Given the description of an element on the screen output the (x, y) to click on. 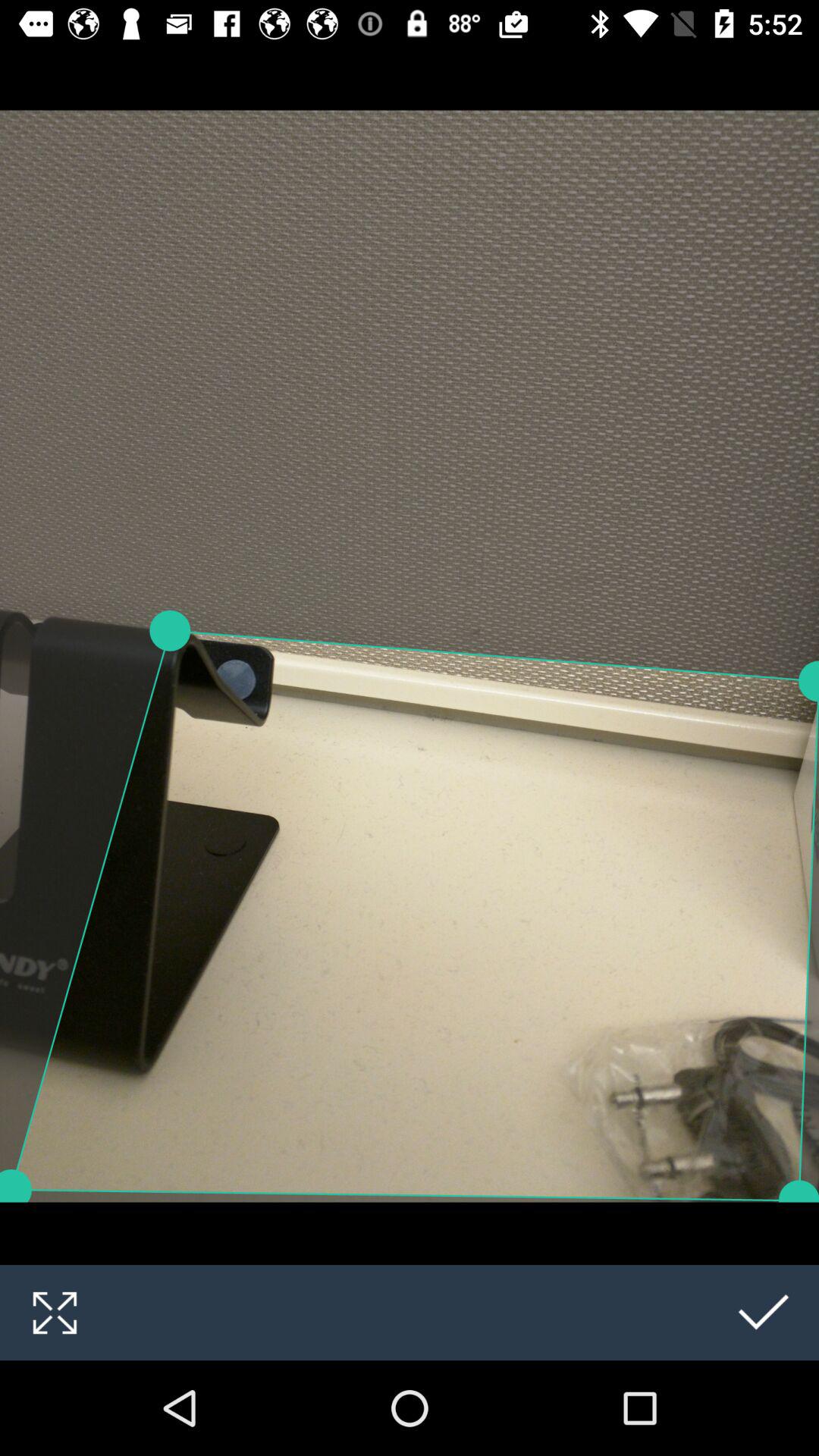
click the icon at the bottom right corner (764, 1312)
